Given the description of an element on the screen output the (x, y) to click on. 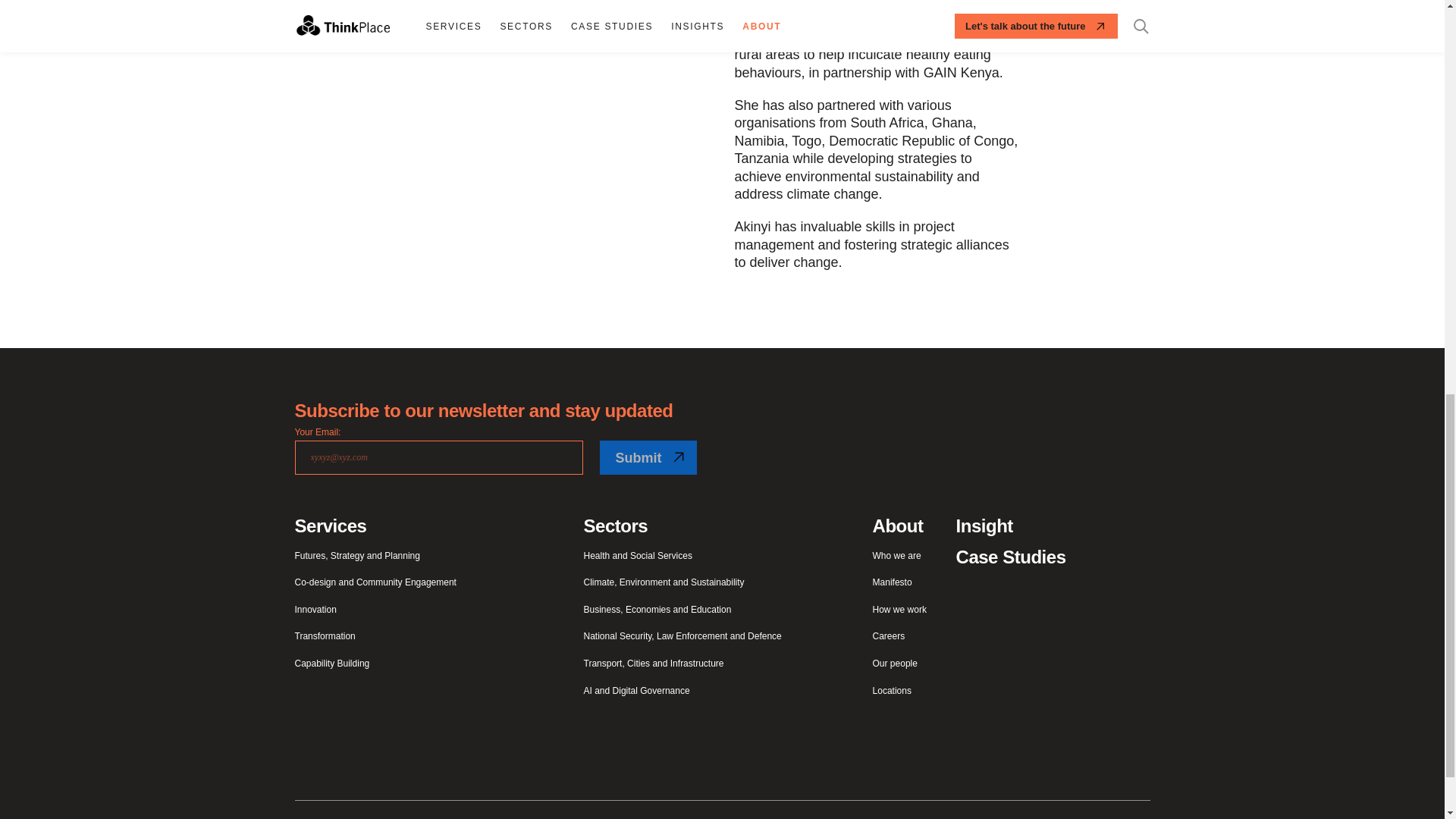
Innovation (315, 610)
Transformation (324, 636)
Submit (646, 457)
Health and Social Services (638, 556)
Futures, Strategy and Planning (356, 556)
Capability Building (331, 664)
Climate, Environment and Sustainability (663, 582)
Co-design and Community Engagement (374, 582)
Business, Economies and Education (657, 610)
